Given the description of an element on the screen output the (x, y) to click on. 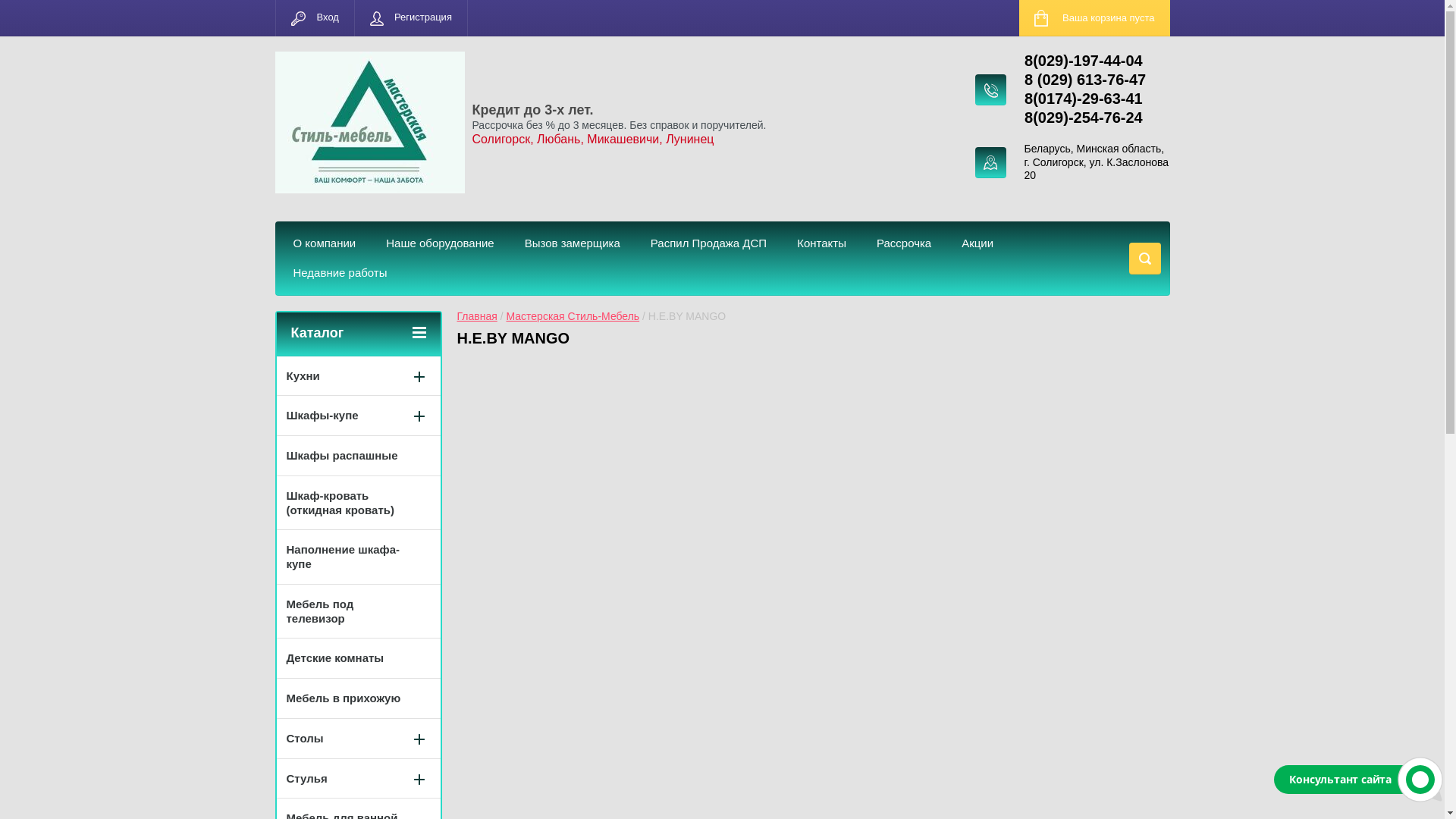
8(029)-254-76-24 Element type: text (1083, 117)
8 (029) 613-76-47 Element type: text (1084, 79)
8(0174)-29-63-41 Element type: text (1083, 98)
8(029)-197-44-04 Element type: text (1083, 60)
